Given the description of an element on the screen output the (x, y) to click on. 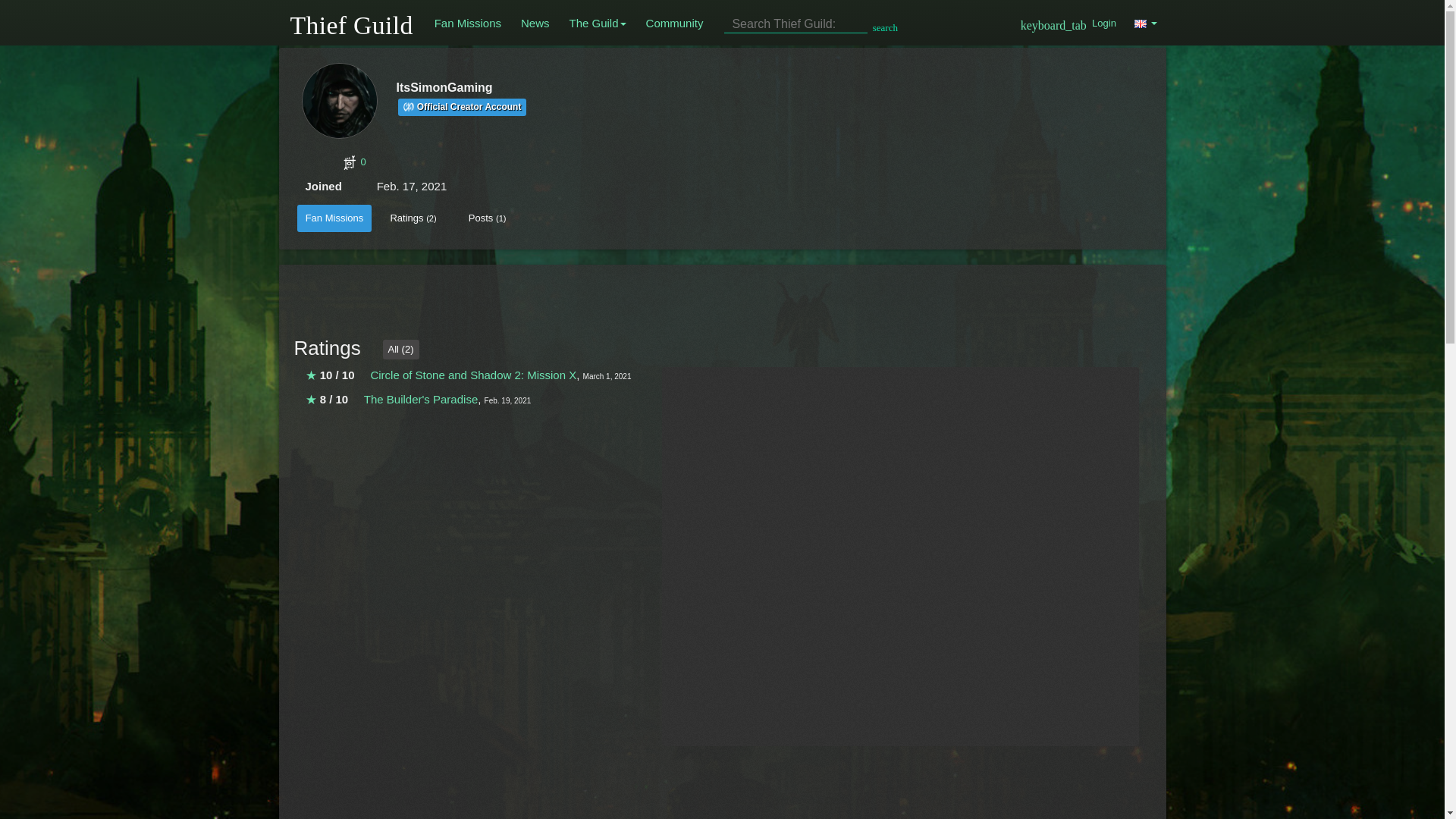
Fan Missions (334, 217)
The Guild (597, 22)
Thief Guild (352, 21)
0 Glyphs of the Keepers (599, 162)
Official Creator Account (461, 107)
News (535, 22)
Circle of Stone and Shadow 2: Mission X (472, 374)
Community (674, 22)
Fan Missions (468, 22)
search (884, 25)
This user is creating missions. (461, 107)
The Builder's Paradise (420, 399)
search (807, 24)
